Given the description of an element on the screen output the (x, y) to click on. 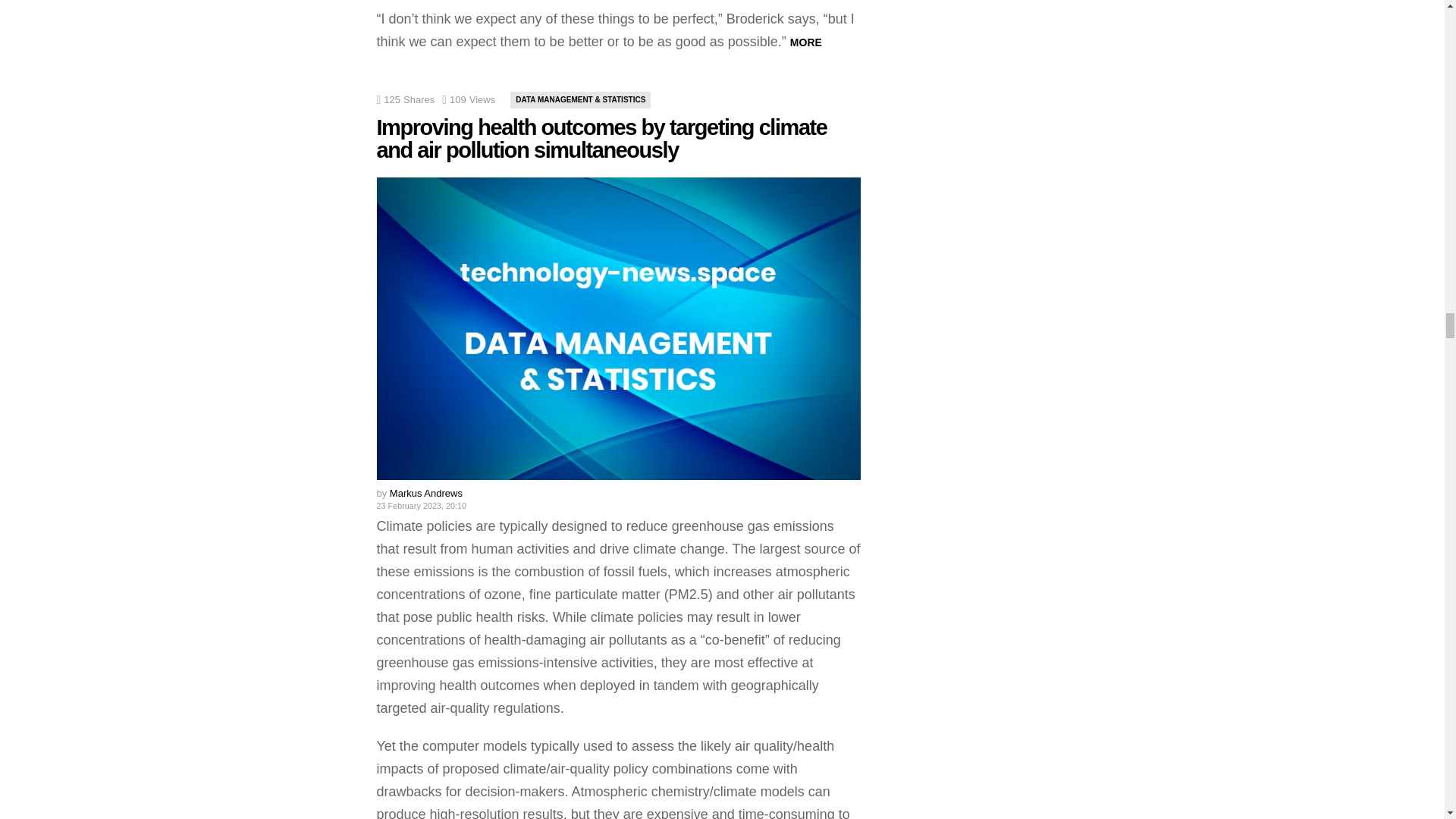
Posts by Markus Andrews (426, 492)
